Given the description of an element on the screen output the (x, y) to click on. 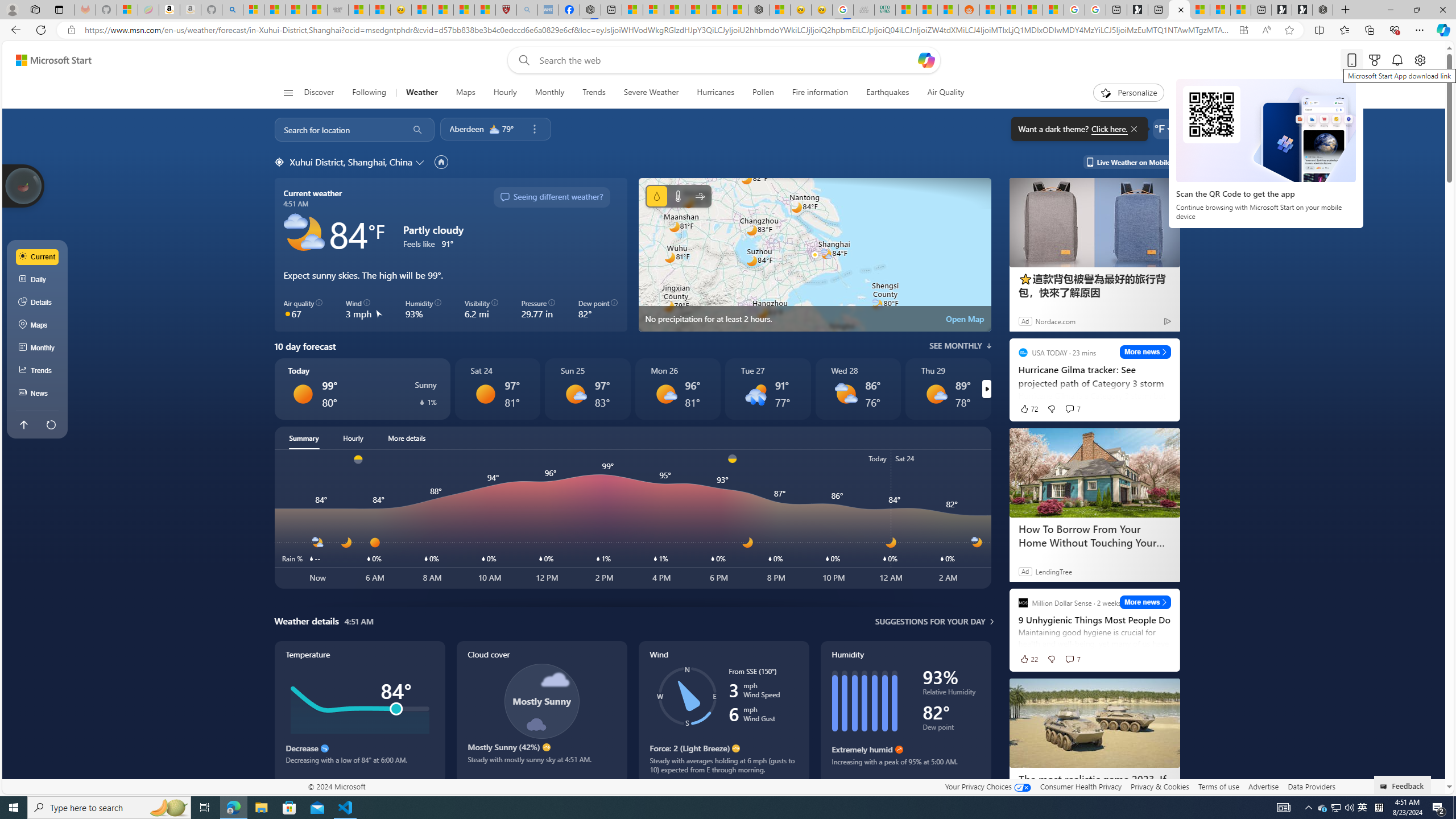
Weather (421, 92)
Switch right (986, 389)
Pollen (763, 92)
Weather settings (1162, 128)
Aberdeen (466, 129)
Class: BubbleMessageCloseIcon-DS-EntryPoint1-1 (1133, 128)
Enter your search term (726, 59)
Consumer Health Privacy (1080, 786)
Visibility 6.2 mi (480, 309)
